Given the description of an element on the screen output the (x, y) to click on. 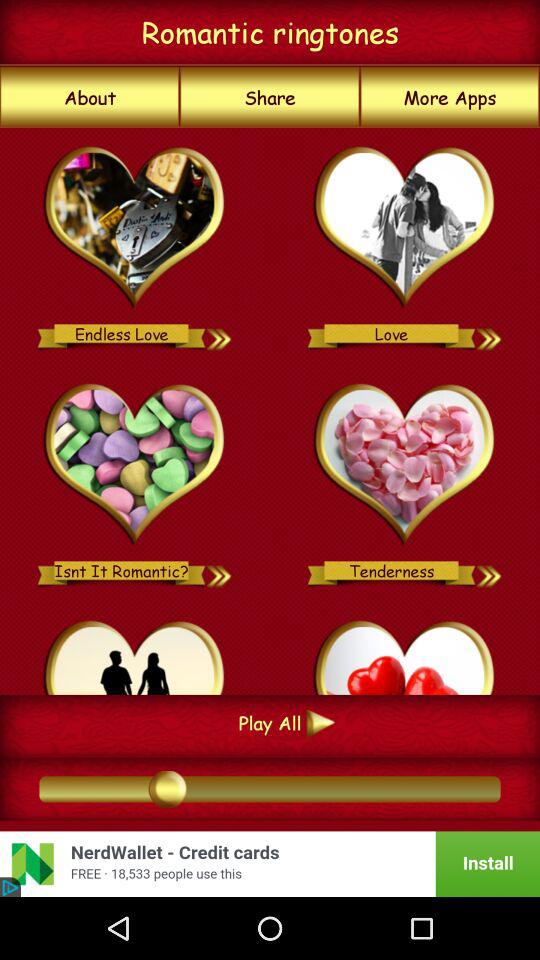
select is n't it romantic (134, 465)
